Given the description of an element on the screen output the (x, y) to click on. 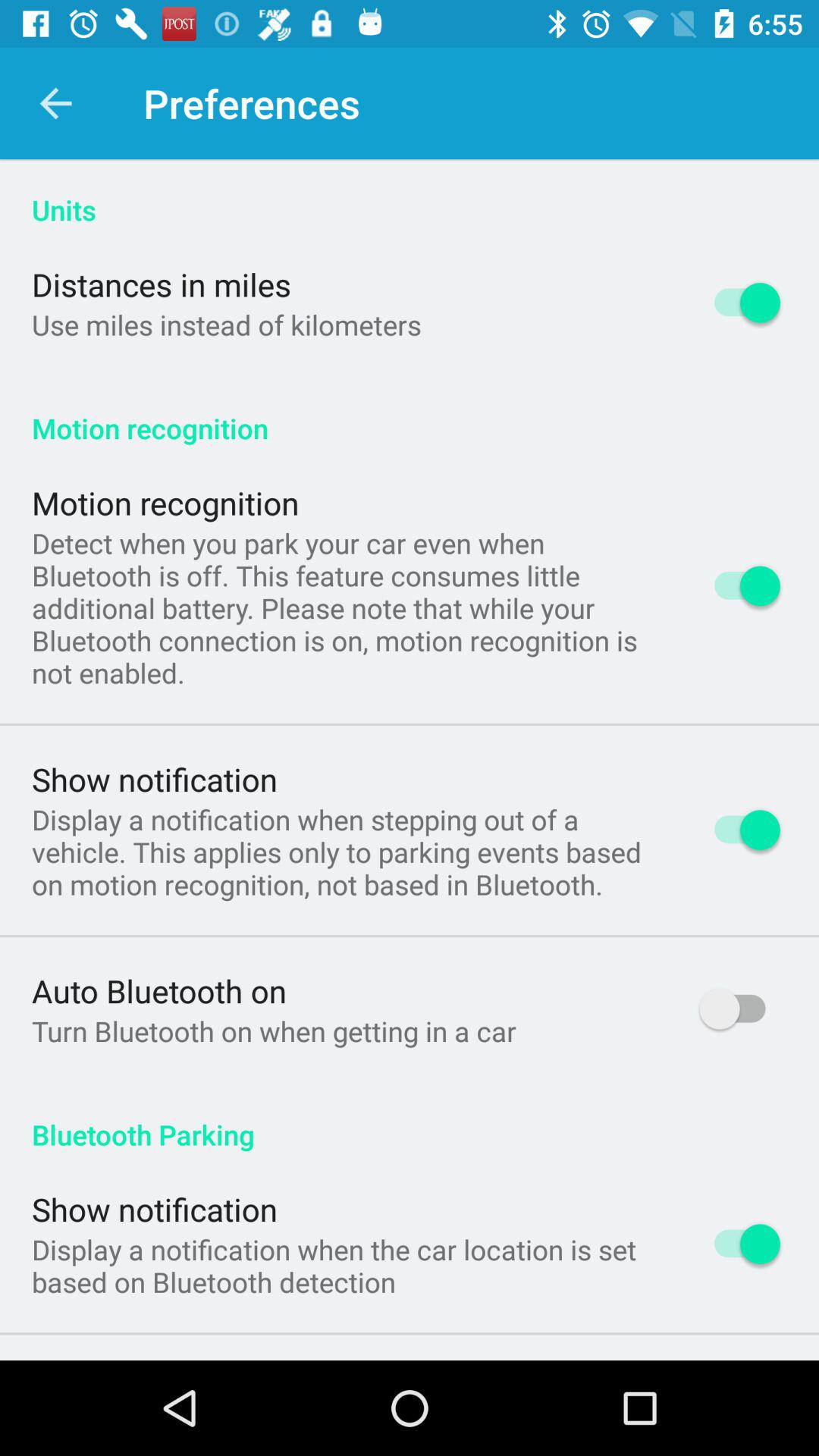
jump to the units item (409, 193)
